Given the description of an element on the screen output the (x, y) to click on. 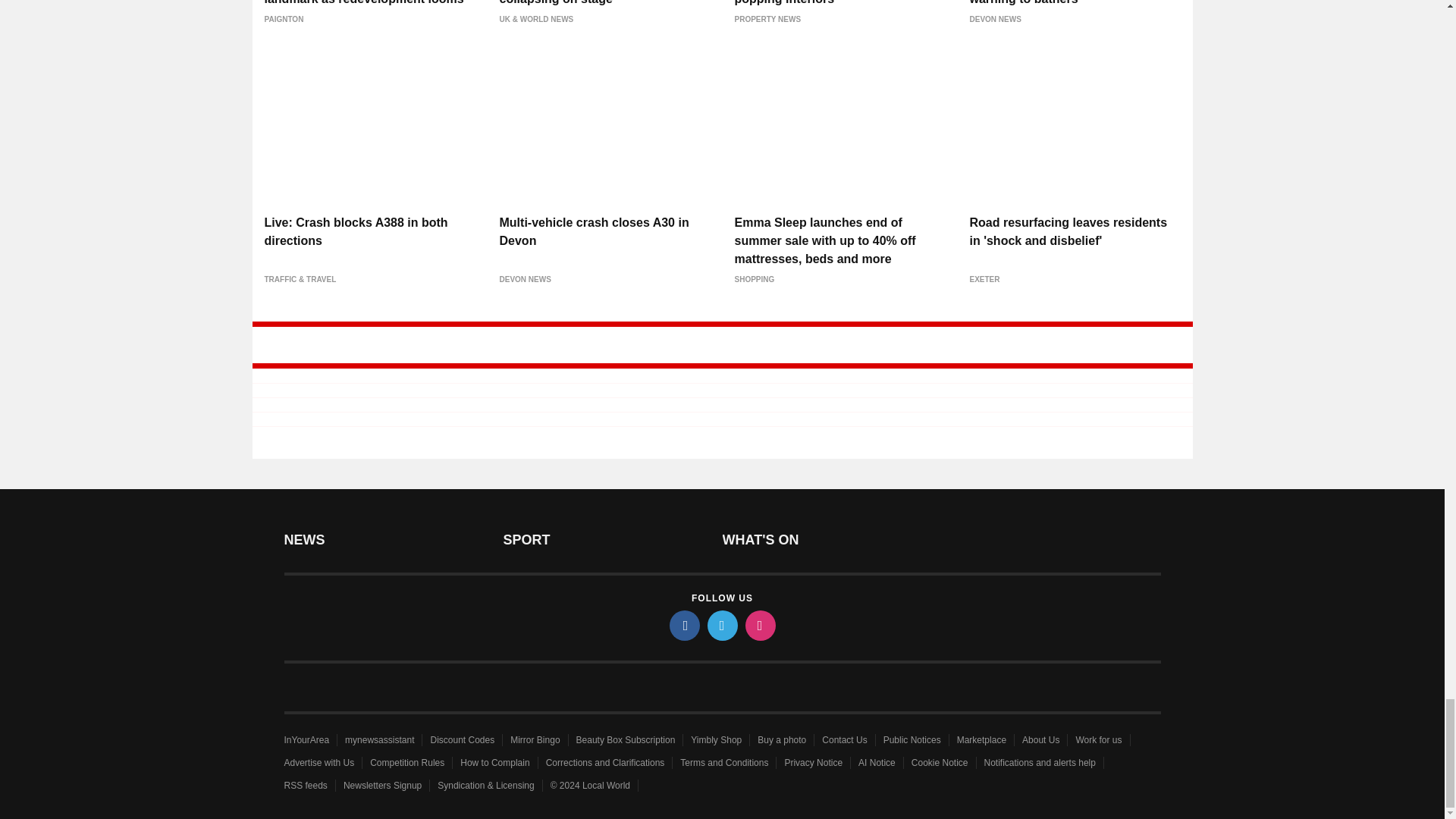
instagram (759, 625)
twitter (721, 625)
facebook (683, 625)
